Given the description of an element on the screen output the (x, y) to click on. 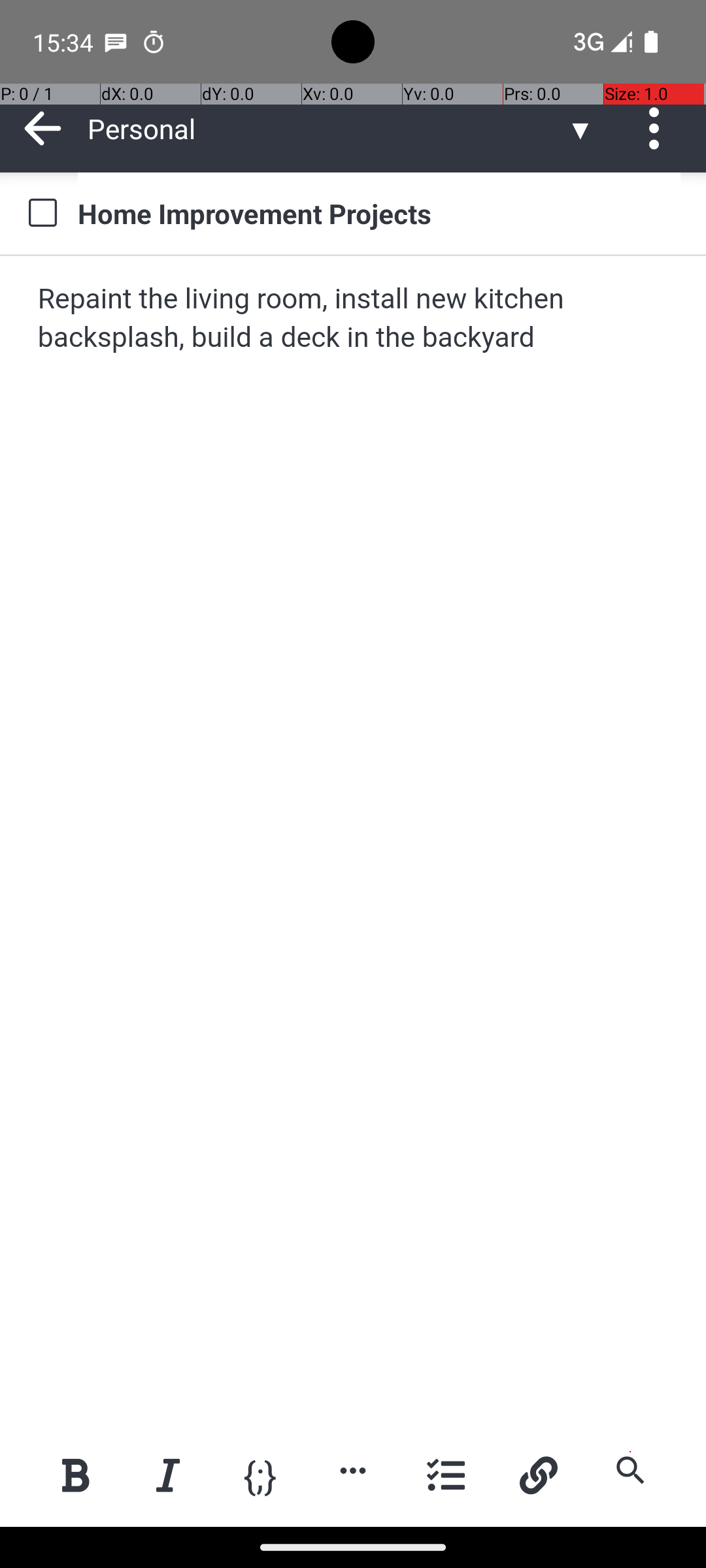
Home Improvement Projects Element type: android.widget.EditText (378, 213)
Repaint the living room, install new kitchen backsplash, build a deck in the backyard Element type: android.widget.EditText (354, 318)
